Given the description of an element on the screen output the (x, y) to click on. 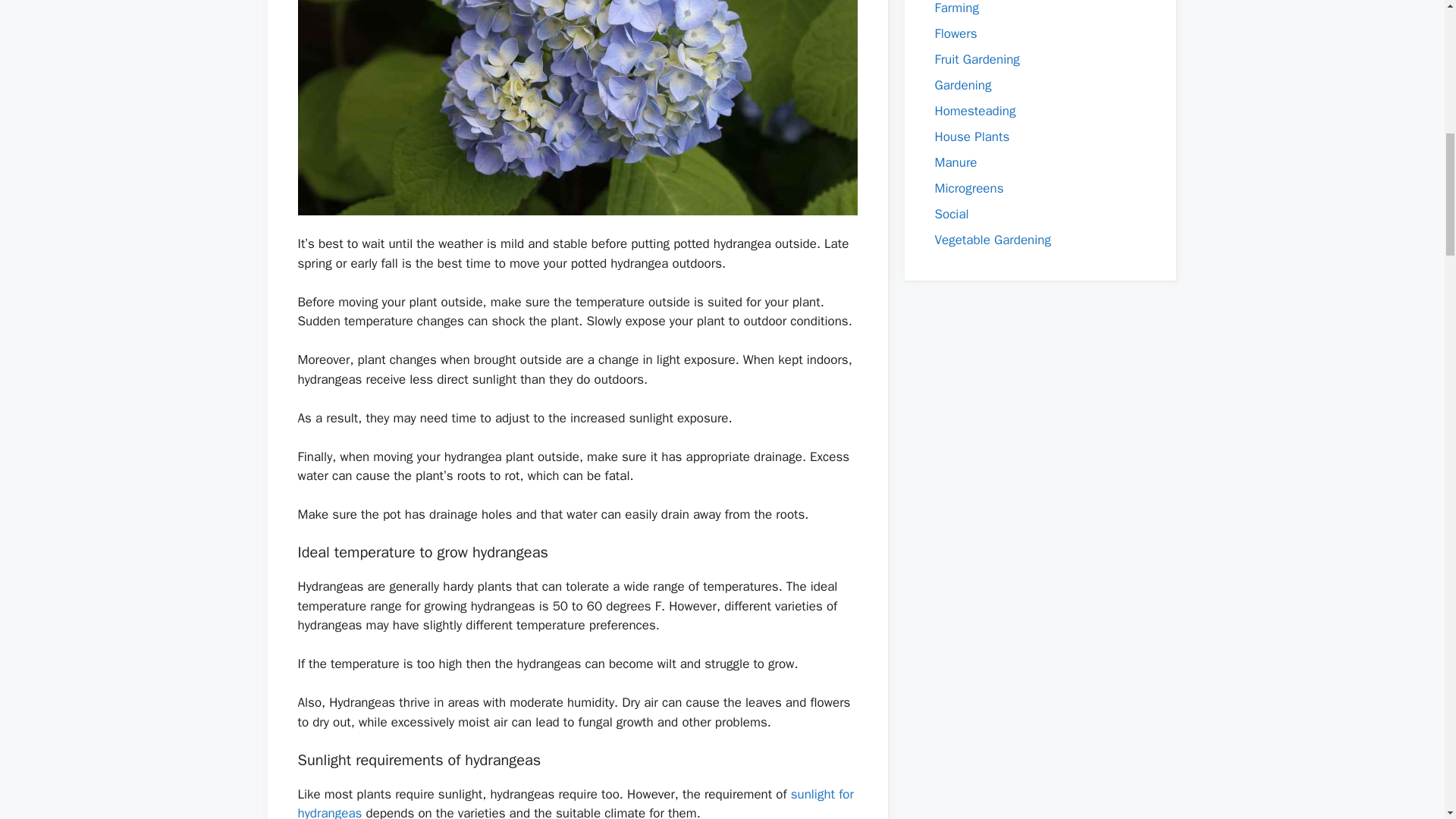
Flowers (955, 33)
Farming (956, 7)
Fruit Gardening (976, 59)
Scroll back to top (1406, 720)
sunlight for hydrangeas (575, 802)
